Given the description of an element on the screen output the (x, y) to click on. 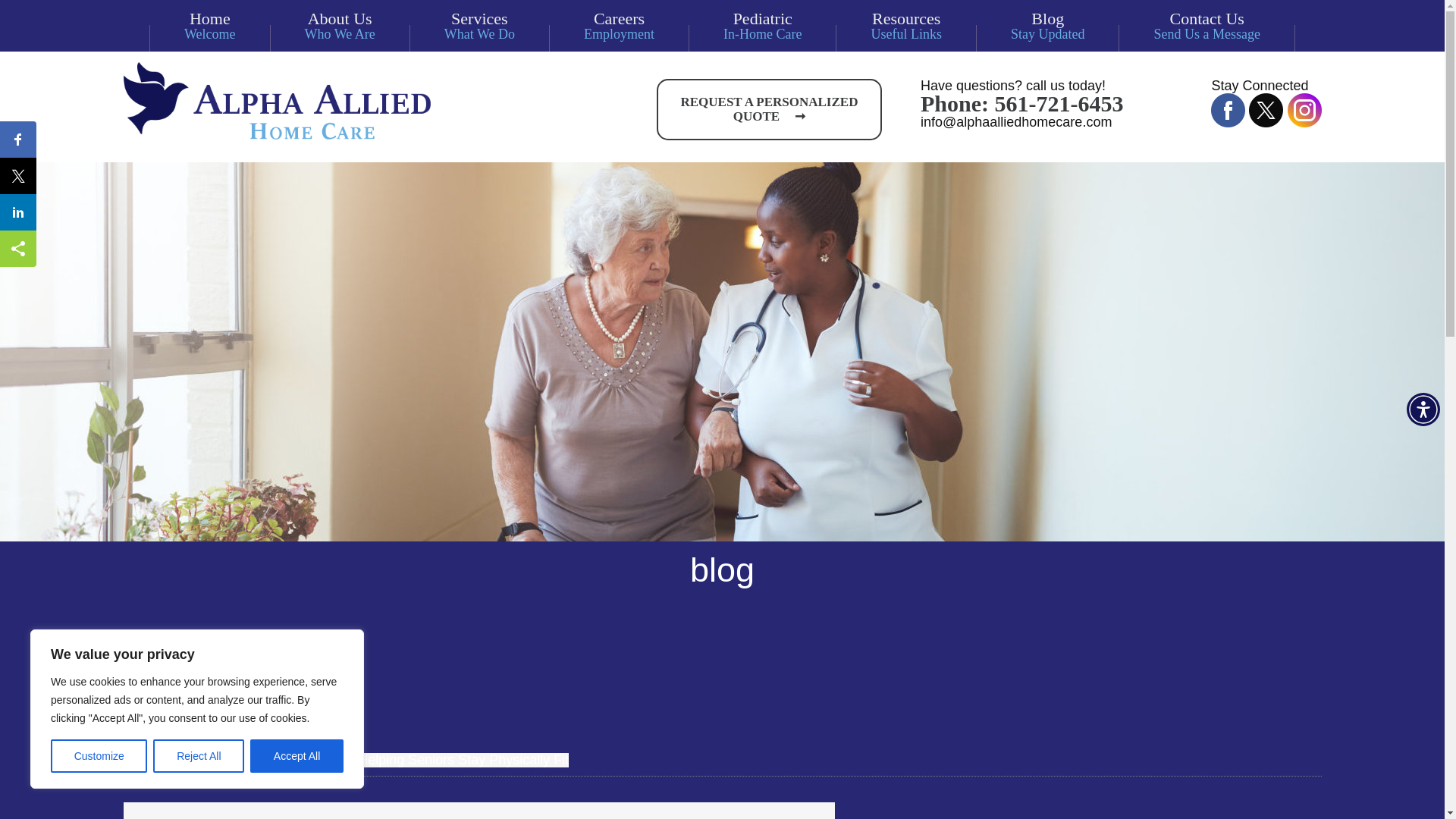
Go to the Stay Physically Fit category archives. (282, 759)
Go to Blog. (191, 759)
Blog (762, 25)
Customize (339, 25)
Home (191, 759)
Accessibility Menu (1047, 25)
Accept All (98, 756)
Stay Physically Fit (619, 25)
